Given the description of an element on the screen output the (x, y) to click on. 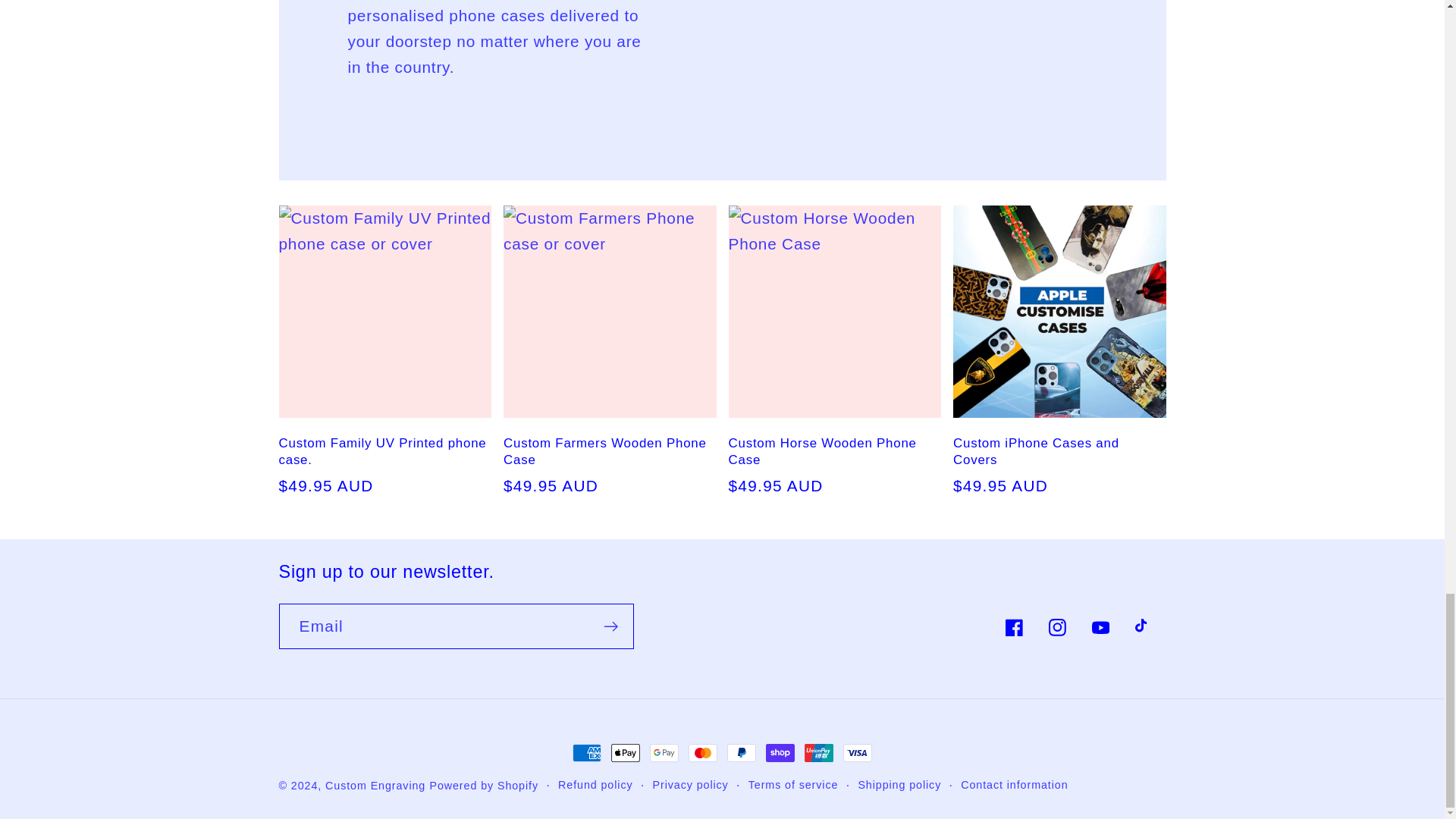
Custom Farmers Wooden Phone Case (609, 451)
Custom Family UV Printed phone case. (385, 451)
